Given the description of an element on the screen output the (x, y) to click on. 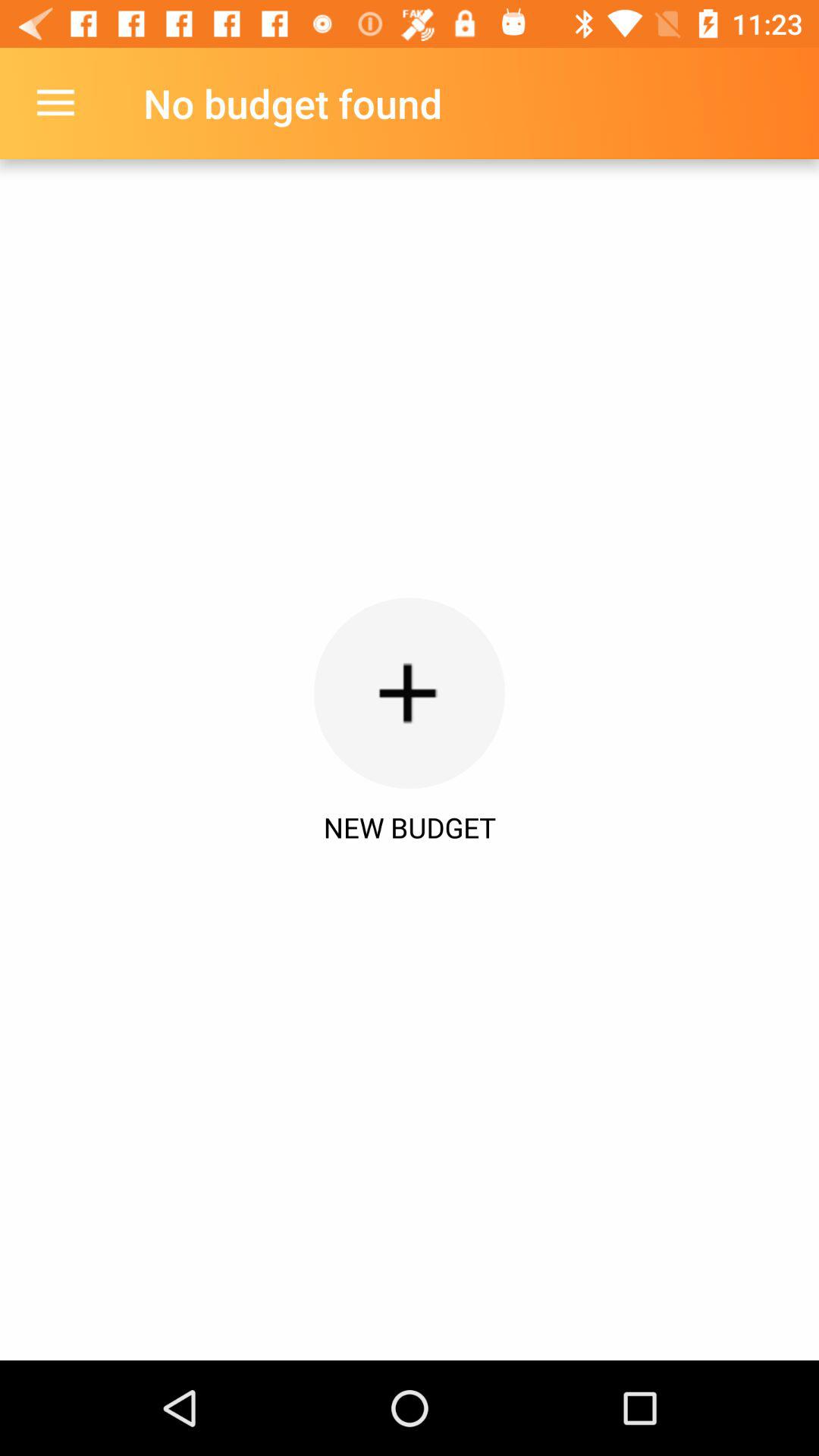
select item below no budget found icon (409, 692)
